Given the description of an element on the screen output the (x, y) to click on. 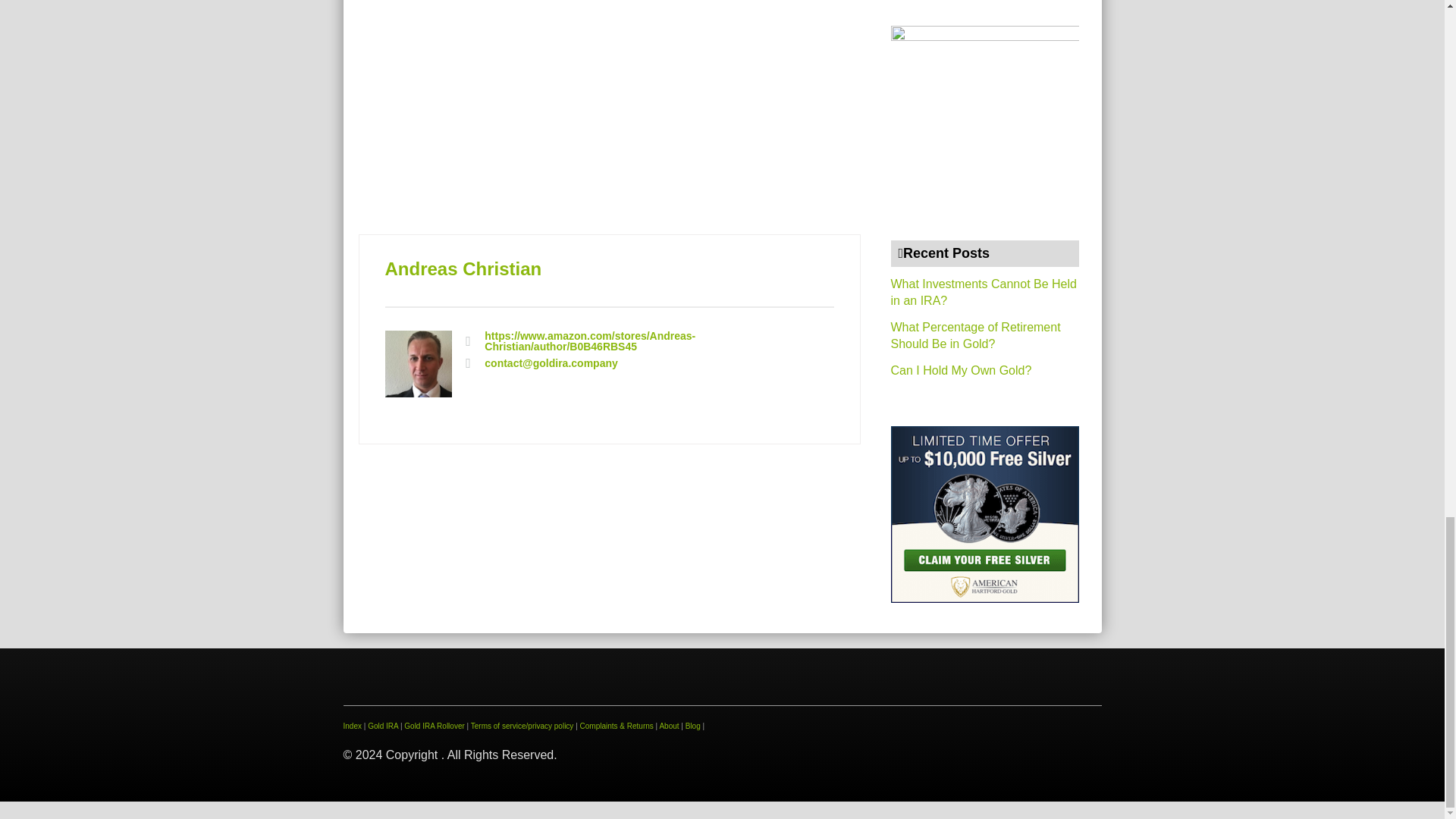
What Investments Cannot Be Held in an IRA? (982, 292)
Index (351, 725)
Andreas Christian (463, 268)
Gold IRA (382, 725)
About (668, 725)
Blog (692, 725)
What Percentage of Retirement Should Be in Gold? (974, 335)
Gold IRA Rollover (434, 725)
Can I Hold My Own Gold? (959, 369)
